Given the description of an element on the screen output the (x, y) to click on. 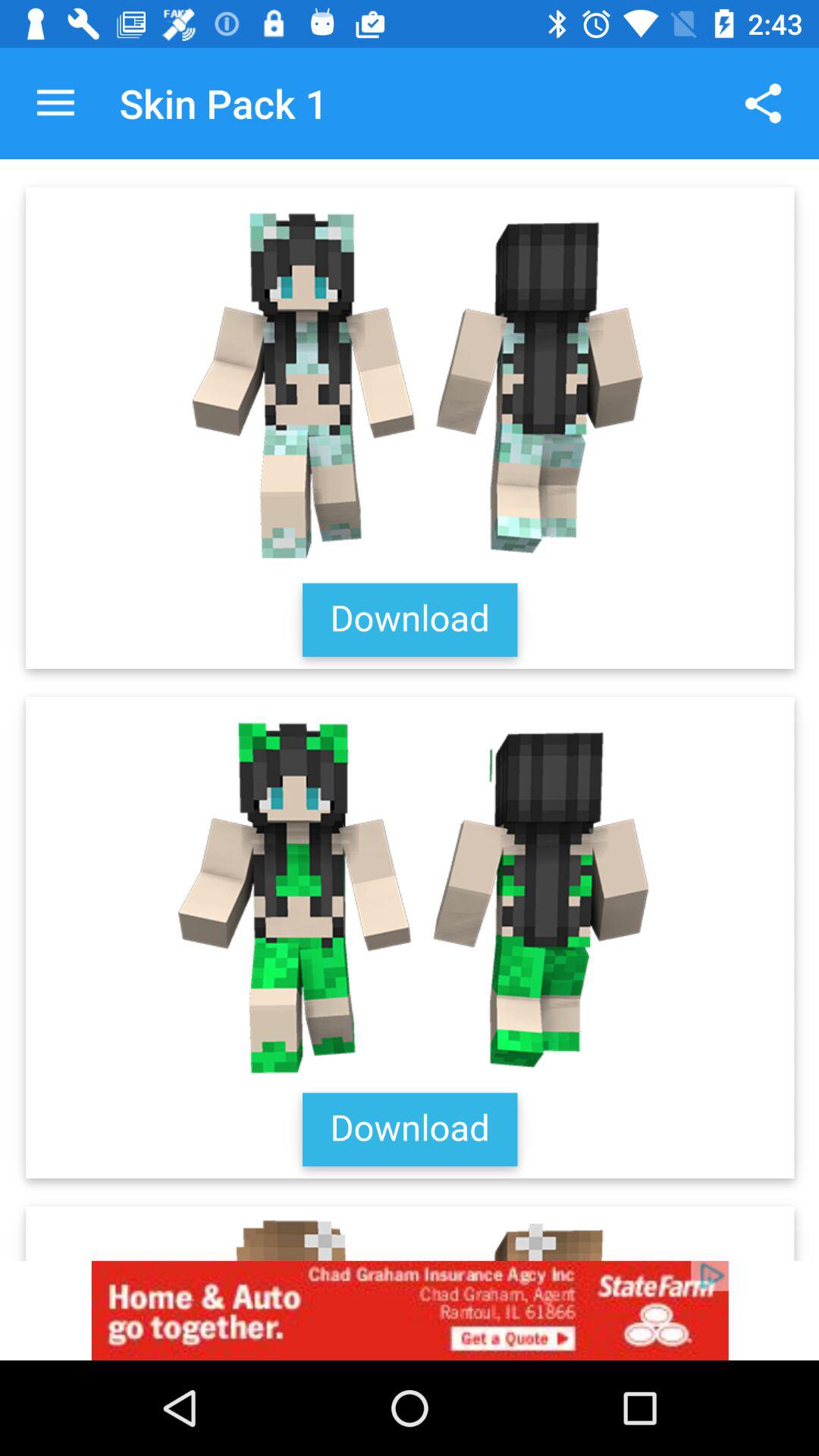
download this skin pack (409, 709)
